Given the description of an element on the screen output the (x, y) to click on. 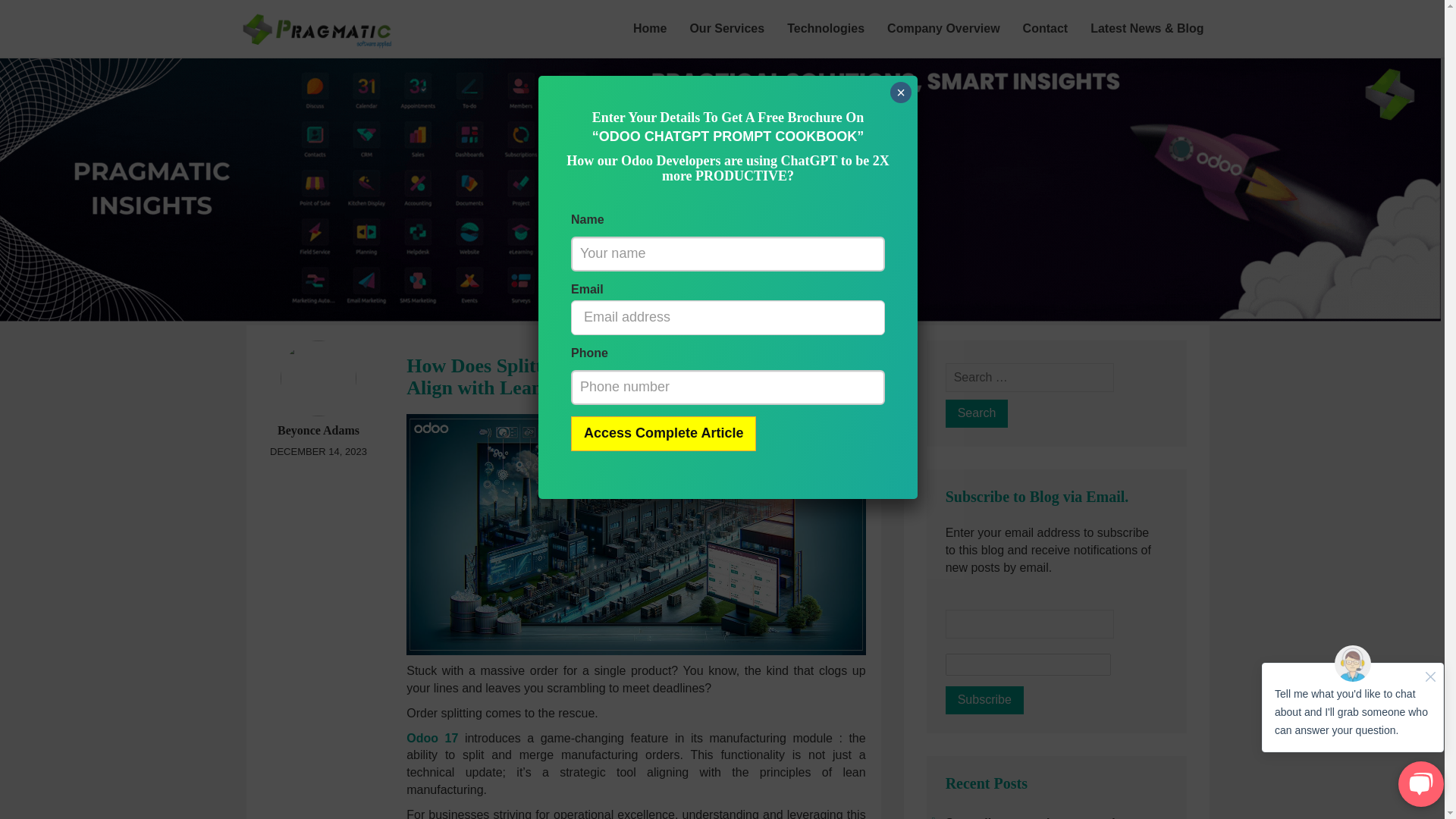
Home (649, 28)
Access Complete Article (662, 433)
Contact (1045, 28)
Our Services (727, 28)
Search (976, 413)
Contact (1045, 28)
Subscribe (983, 700)
Technologies (826, 28)
Odoo 17 (432, 738)
Pragmatic Techsoft (315, 18)
Beyonce Adams (318, 430)
Search (976, 413)
Company Overview (943, 28)
Search (976, 413)
Technologies (826, 28)
